Given the description of an element on the screen output the (x, y) to click on. 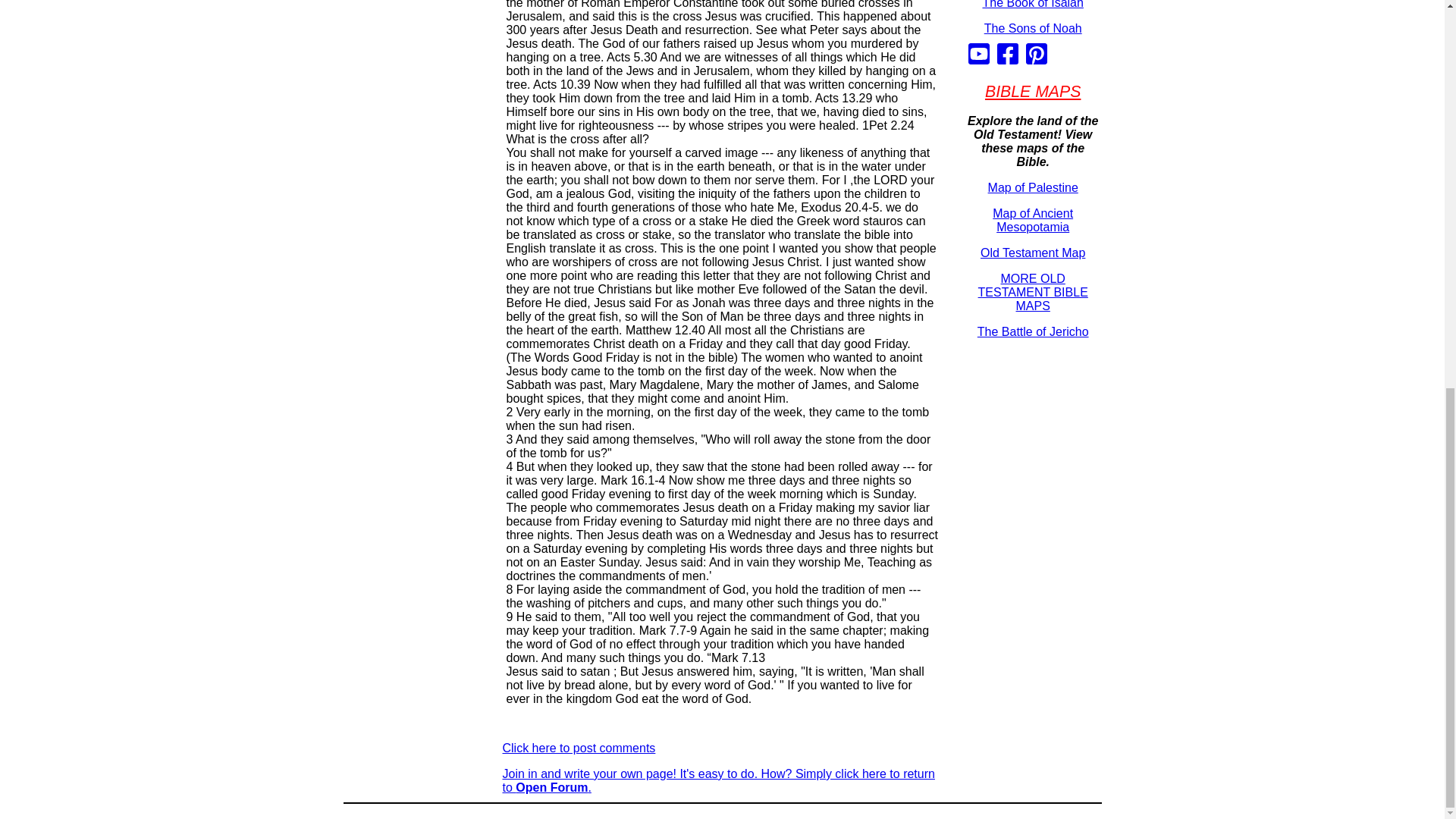
Click here to post comments (578, 748)
